Given the description of an element on the screen output the (x, y) to click on. 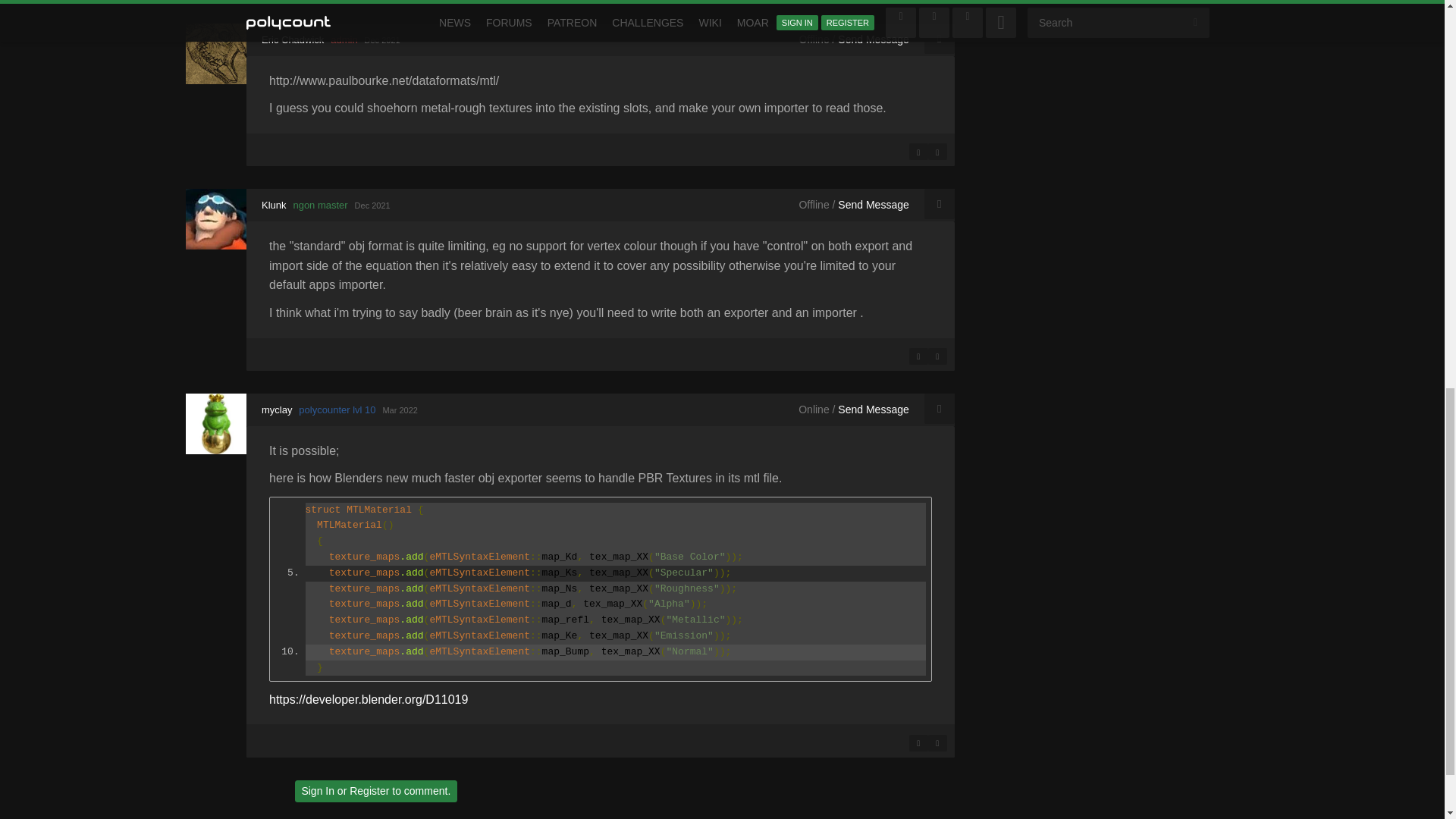
Eric Chadwick (216, 53)
Klunk (216, 219)
ngon master (319, 204)
Administrator (343, 39)
December 27, 2021 4:09PM (382, 40)
